Given the description of an element on the screen output the (x, y) to click on. 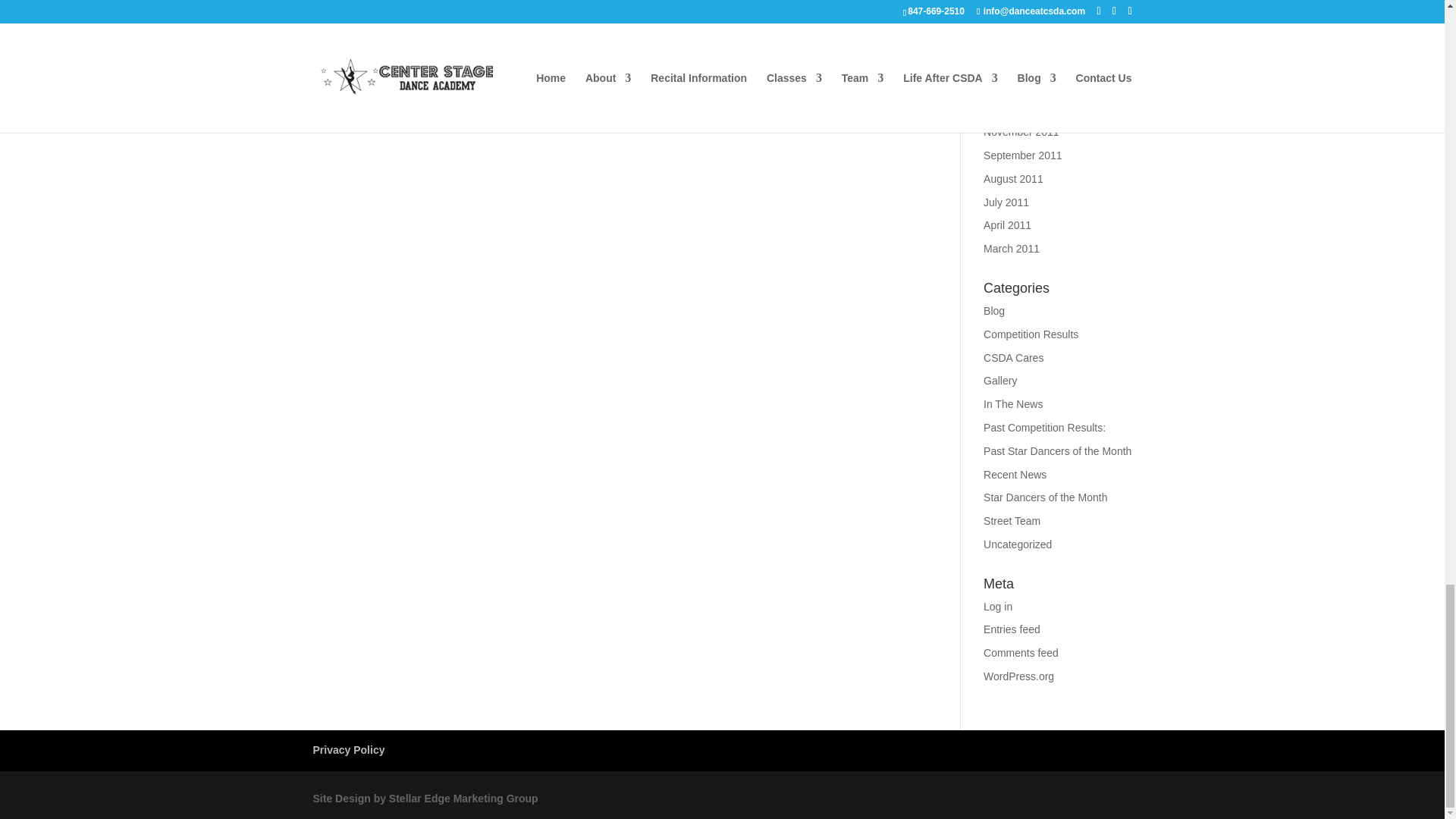
Stellar Edge Marketing Group (425, 798)
